Given the description of an element on the screen output the (x, y) to click on. 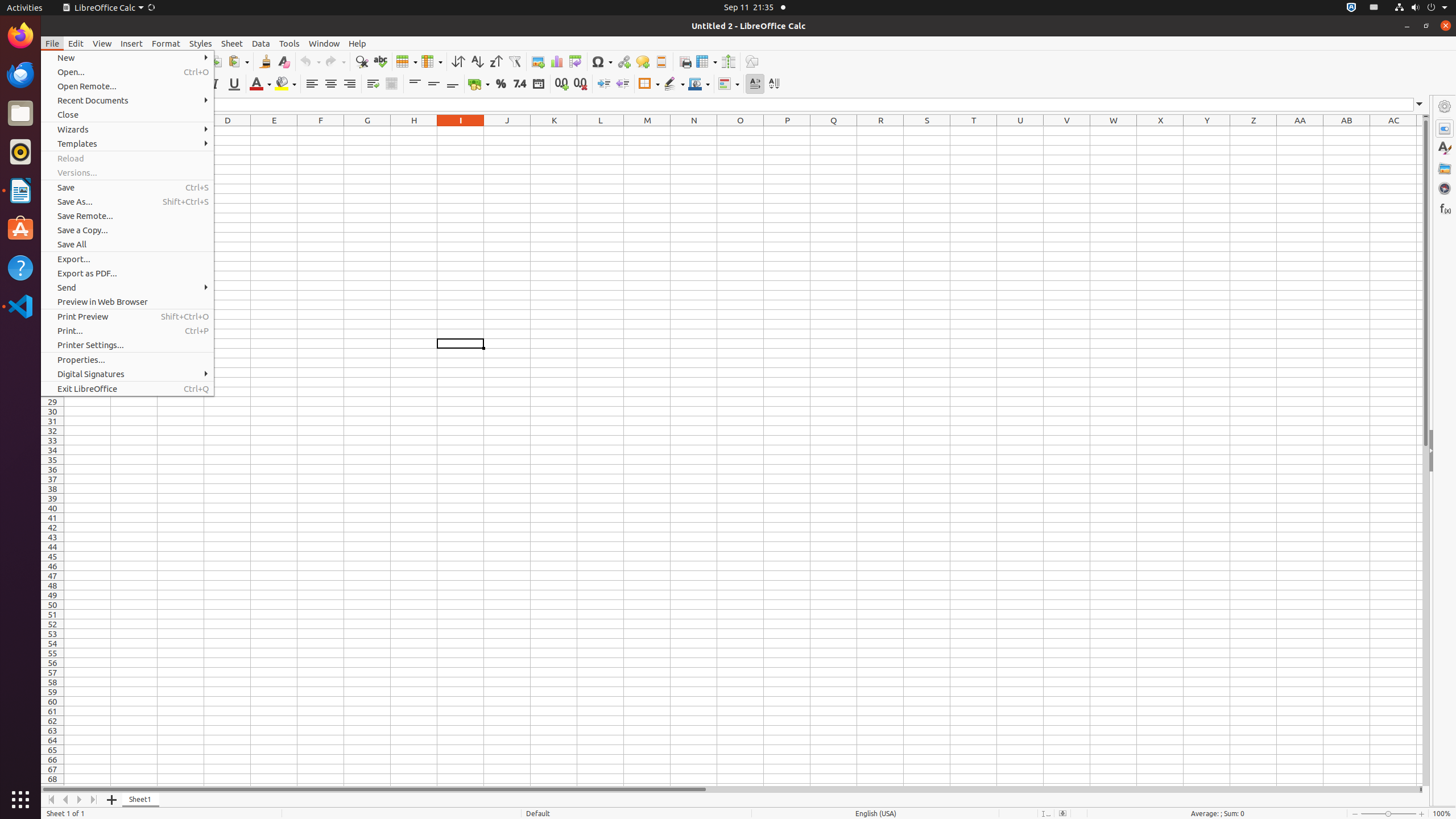
Reload Element type: menu-item (126, 158)
Open Remote... Element type: menu-item (126, 86)
Text direction from left to right Element type: toggle-button (754, 83)
Align Right Element type: push-button (349, 83)
